Given the description of an element on the screen output the (x, y) to click on. 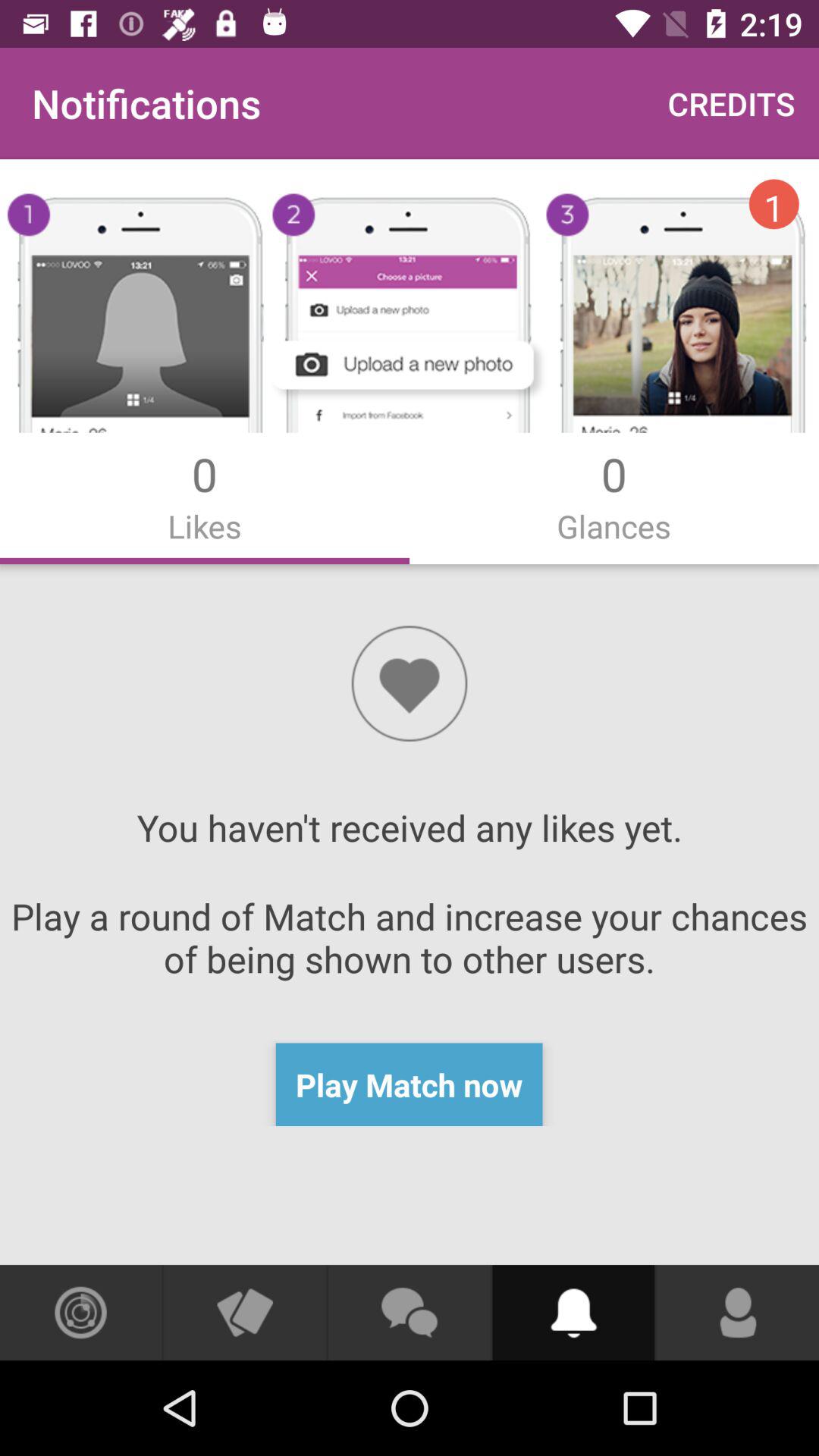
view messages (409, 1312)
